Given the description of an element on the screen output the (x, y) to click on. 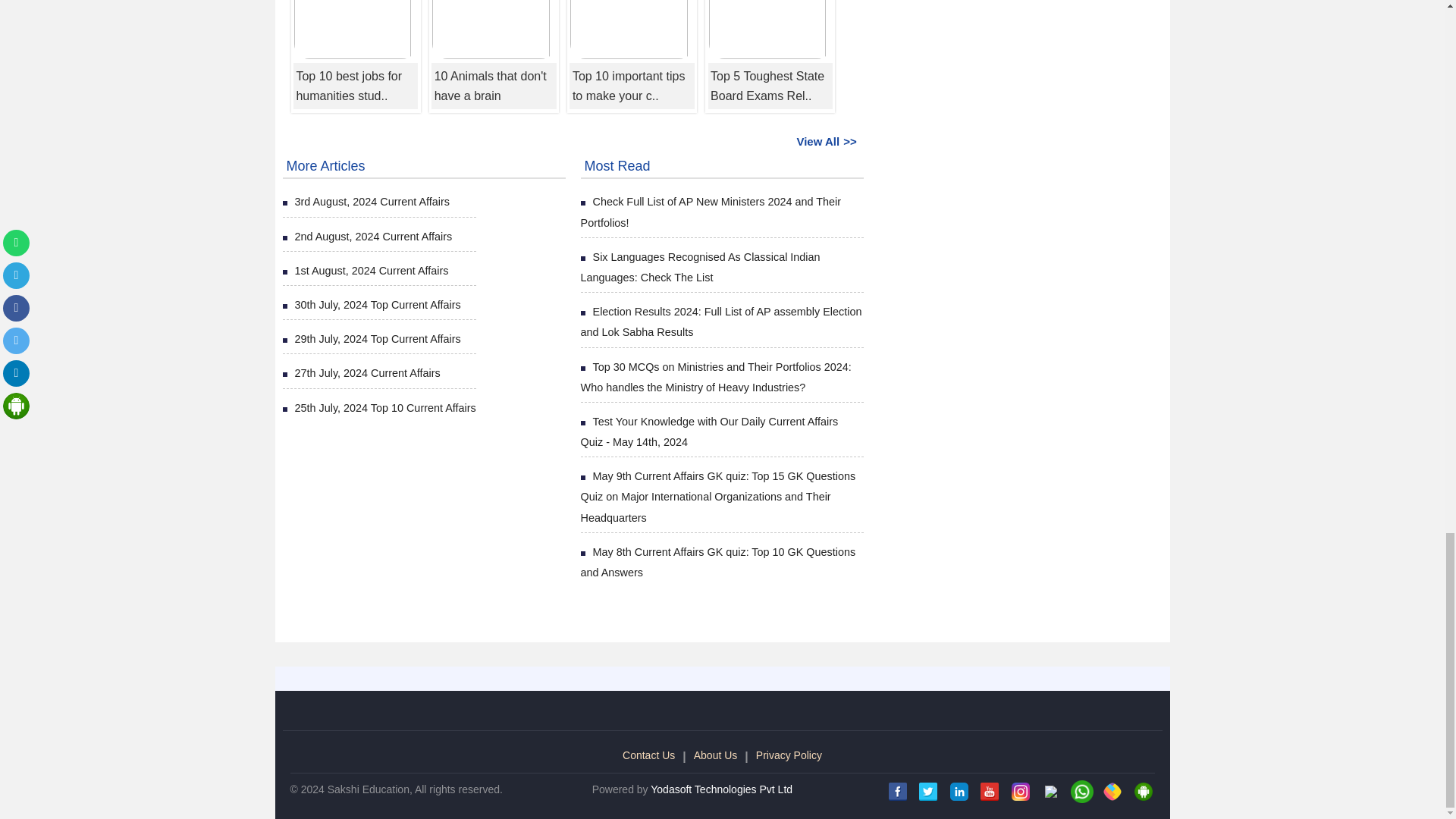
sakshi whatsapp (1081, 791)
